Given the description of an element on the screen output the (x, y) to click on. 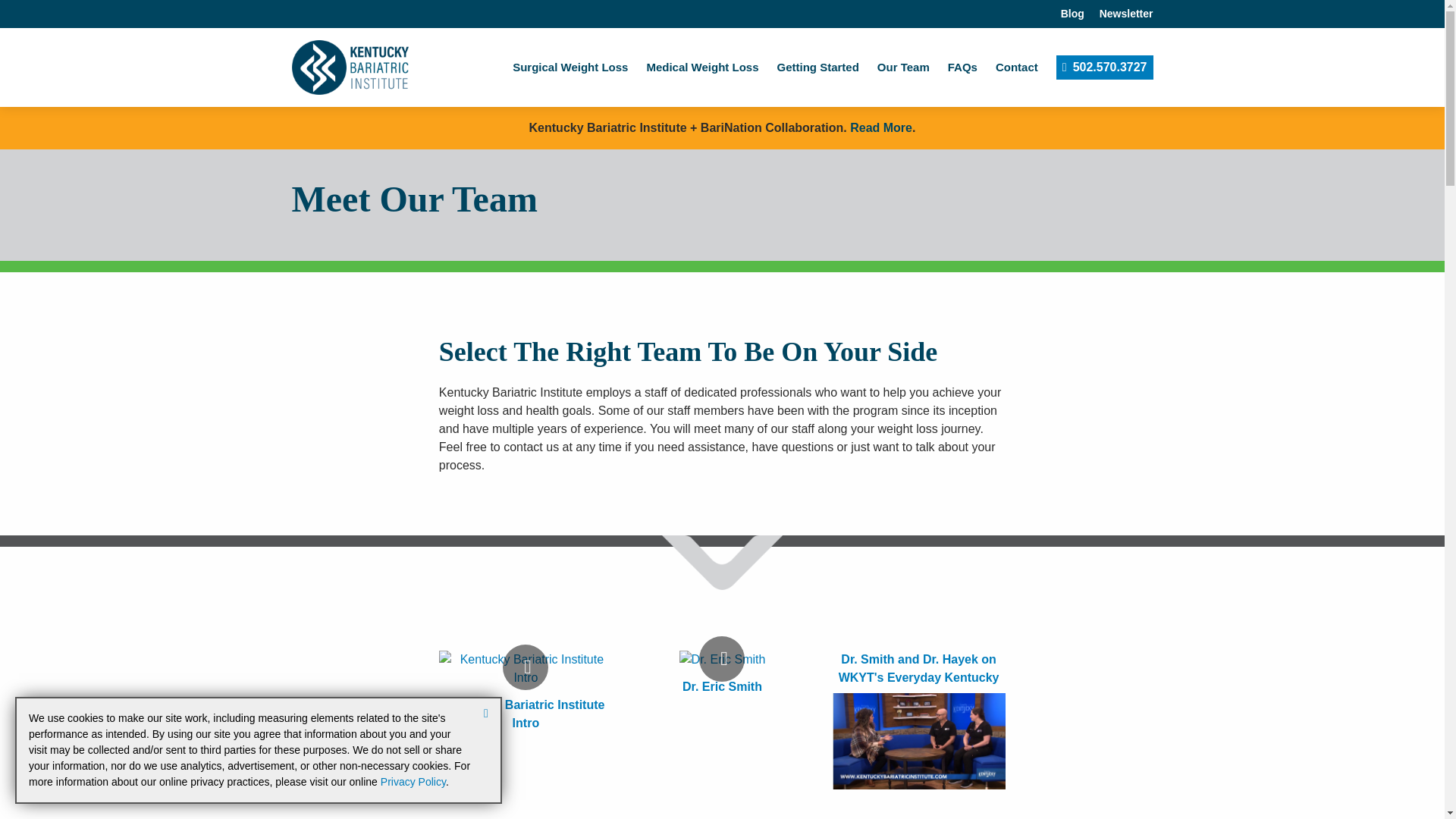
Kentucky Bariatric Institute Intro (525, 713)
Getting Started (817, 67)
Newsletter (1126, 13)
Kentucky Bariatric Institute Intro (525, 667)
Our Team (903, 67)
Medical Weight Loss (702, 67)
Read More (881, 127)
Surgical Weight Loss (569, 67)
Dr. Eric Smith (721, 686)
502.570.3727 (1105, 67)
Dr. Eric Smith (721, 686)
Kentucky Bariatric Institute Intro (525, 713)
Dr. Smith and Dr. Hayek on WKYT's Everyday Kentucky (918, 667)
Dr. Smith and Dr. Hayek on WKYT's Everyday Kentucky (918, 667)
FAQs (961, 67)
